Given the description of an element on the screen output the (x, y) to click on. 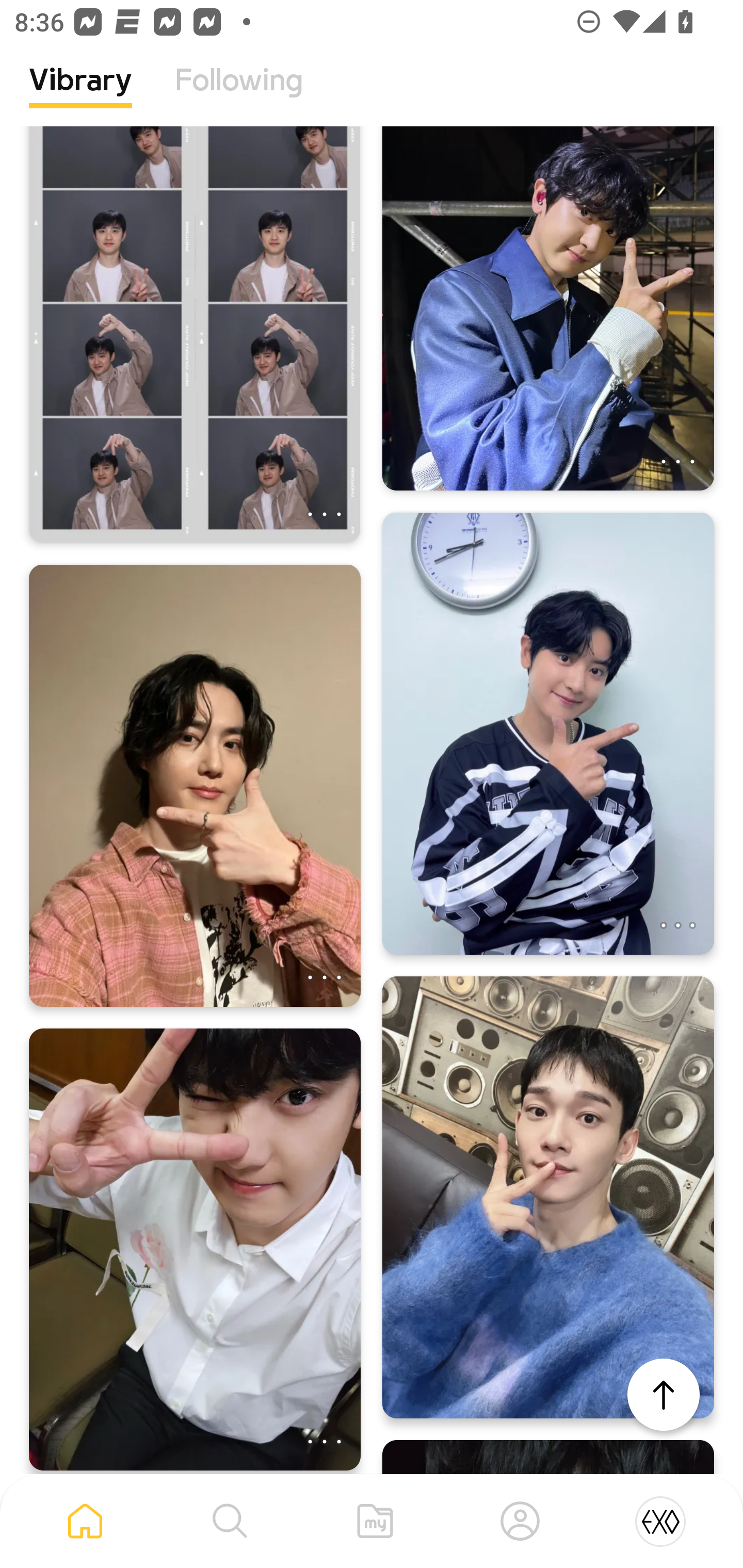
Vibrary (80, 95)
Following (239, 95)
